Given the description of an element on the screen output the (x, y) to click on. 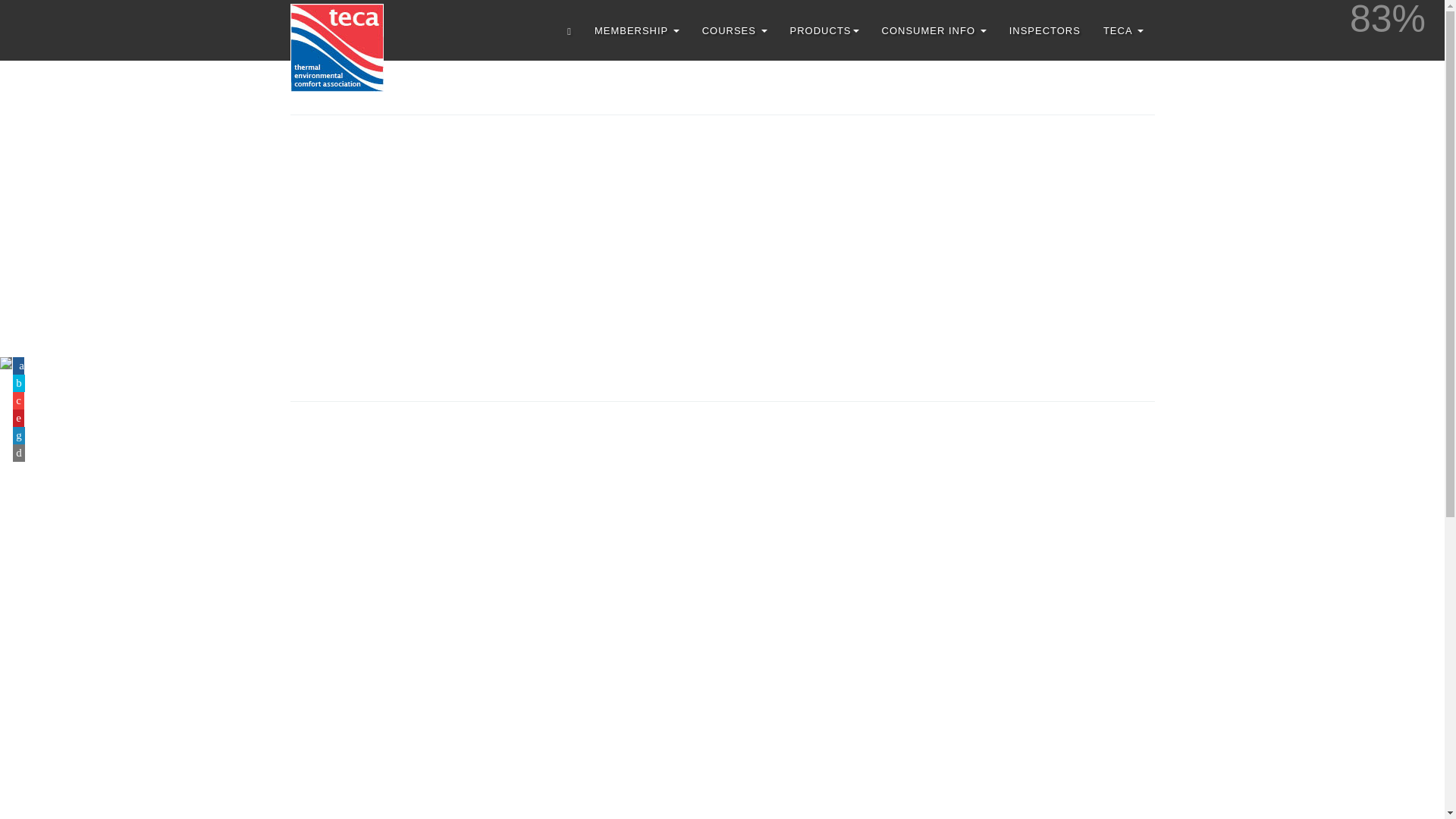
PRODUCTS (824, 30)
COURSES (734, 30)
TECA (1123, 30)
CONSUMER INFO (933, 30)
INSPECTORS (1044, 30)
MEMBERSHIP (636, 30)
